Given the description of an element on the screen output the (x, y) to click on. 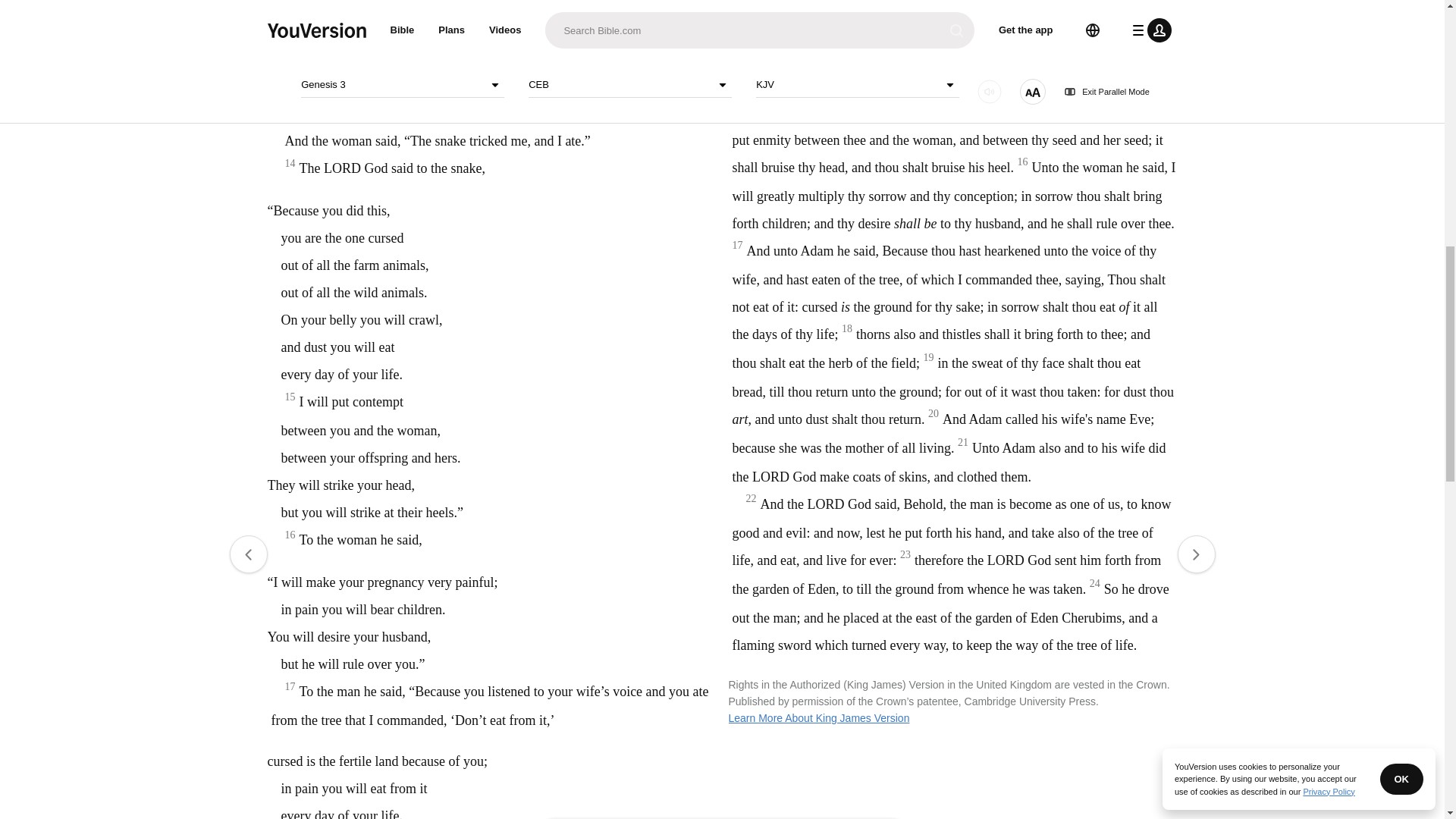
Genesis 3: CEB (617, 47)
Learn More About King James Version (818, 717)
Sign up or sign in (774, 245)
: (599, 47)
